Given the description of an element on the screen output the (x, y) to click on. 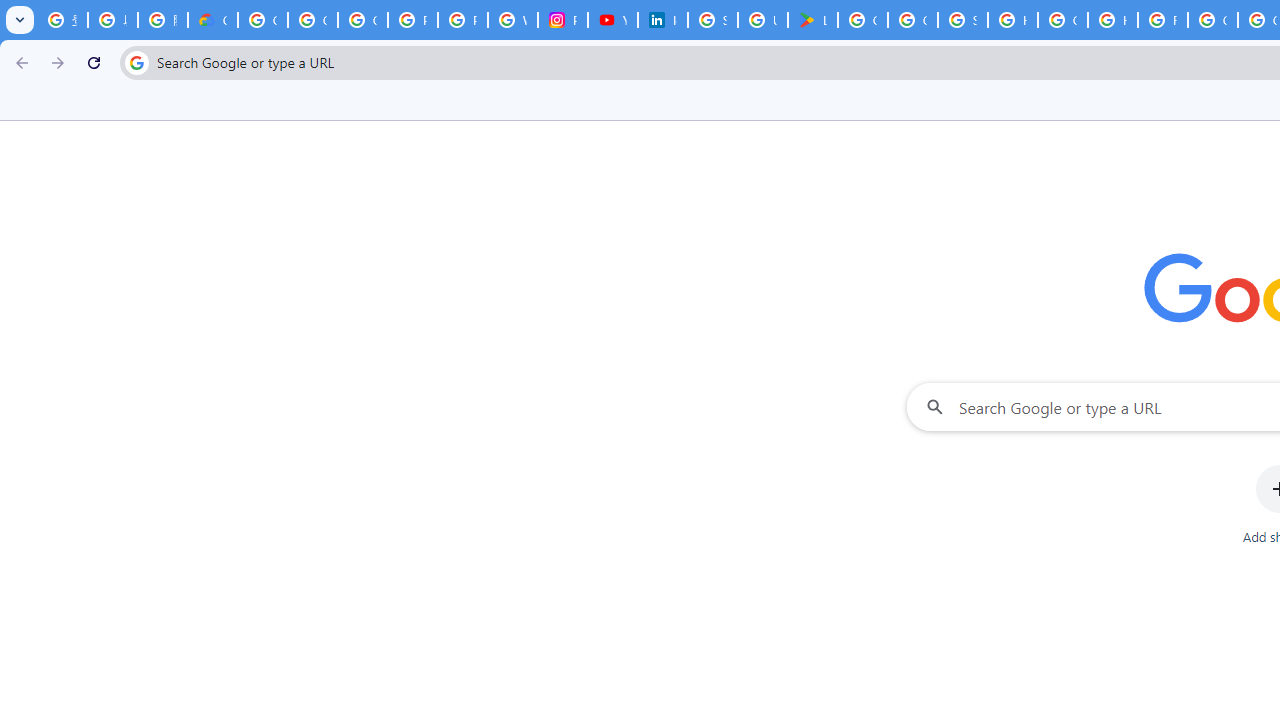
Google Workspace - Specific Terms (913, 20)
Privacy Help Center - Policies Help (462, 20)
Last Shelter: Survival - Apps on Google Play (813, 20)
